Given the description of an element on the screen output the (x, y) to click on. 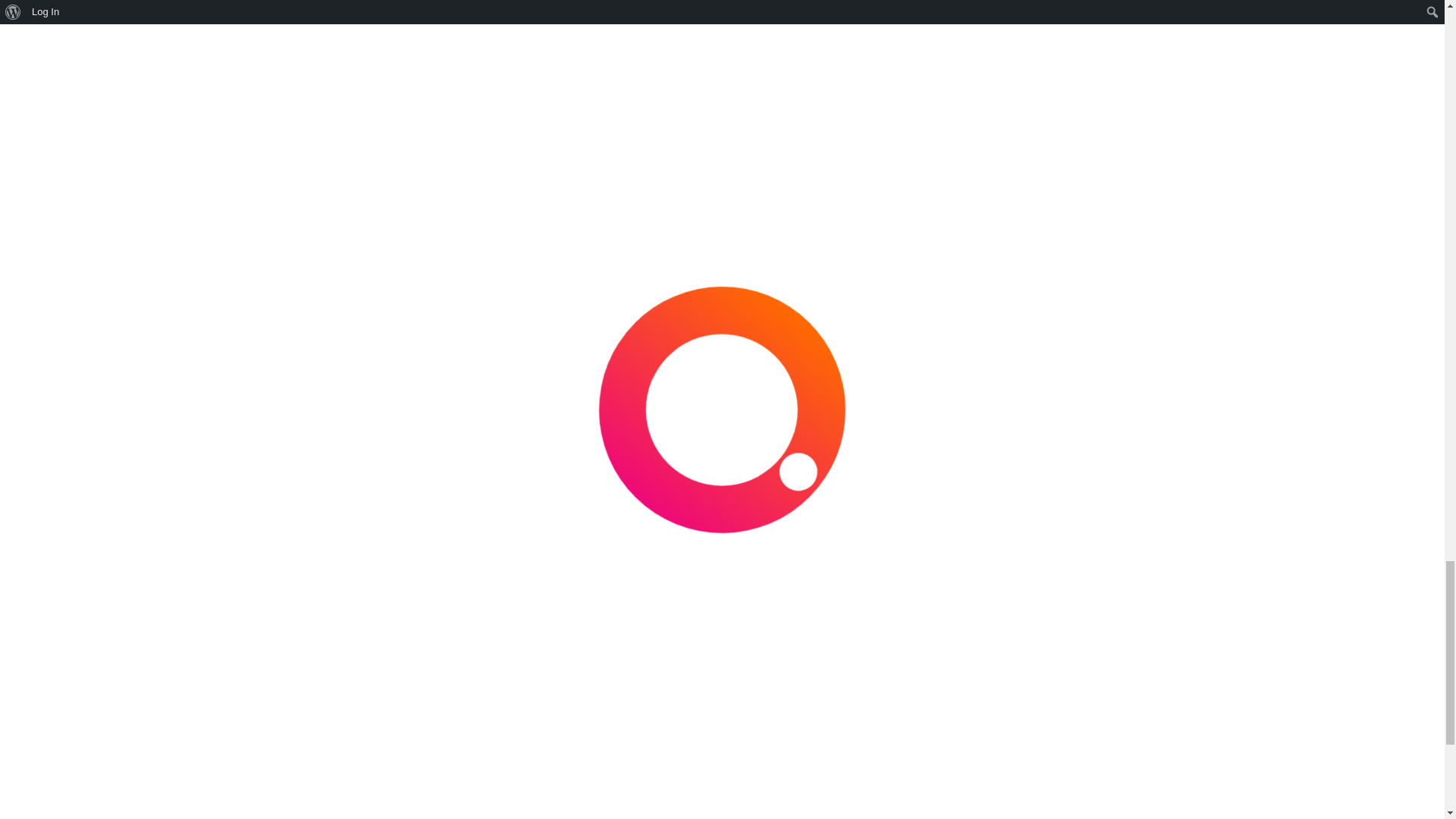
Follow by Email (971, 253)
Facebook (1006, 235)
Twitter (1040, 235)
RSS (938, 235)
Pinterest (1074, 235)
